Given the description of an element on the screen output the (x, y) to click on. 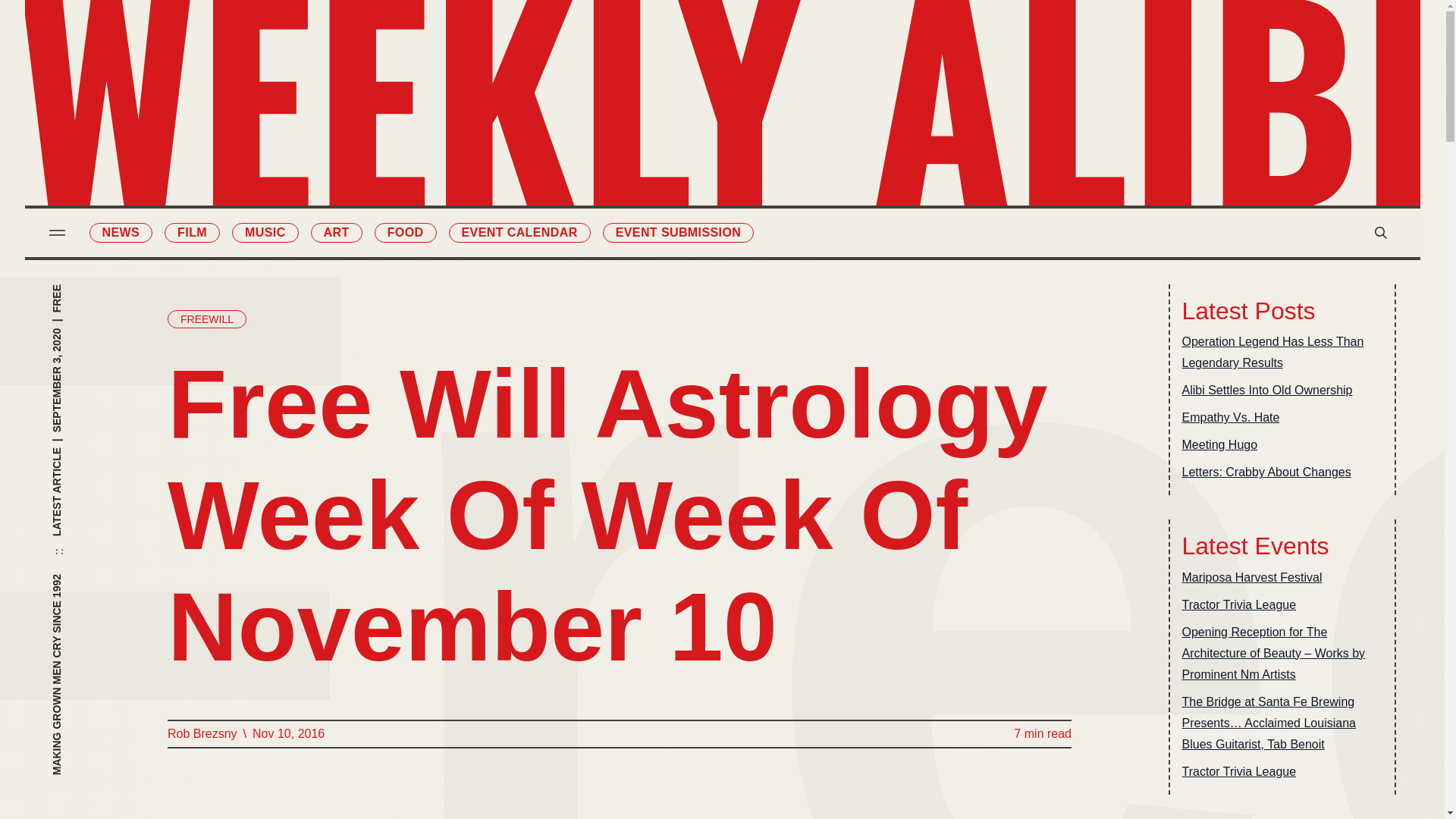
FREEWILL (206, 319)
EVENT SUBMISSION (678, 232)
FILM (191, 232)
NEWS (120, 232)
MUSIC (264, 232)
Rob Brezsny (201, 733)
FOOD (405, 232)
ART (336, 232)
EVENT CALENDAR (519, 232)
